Given the description of an element on the screen output the (x, y) to click on. 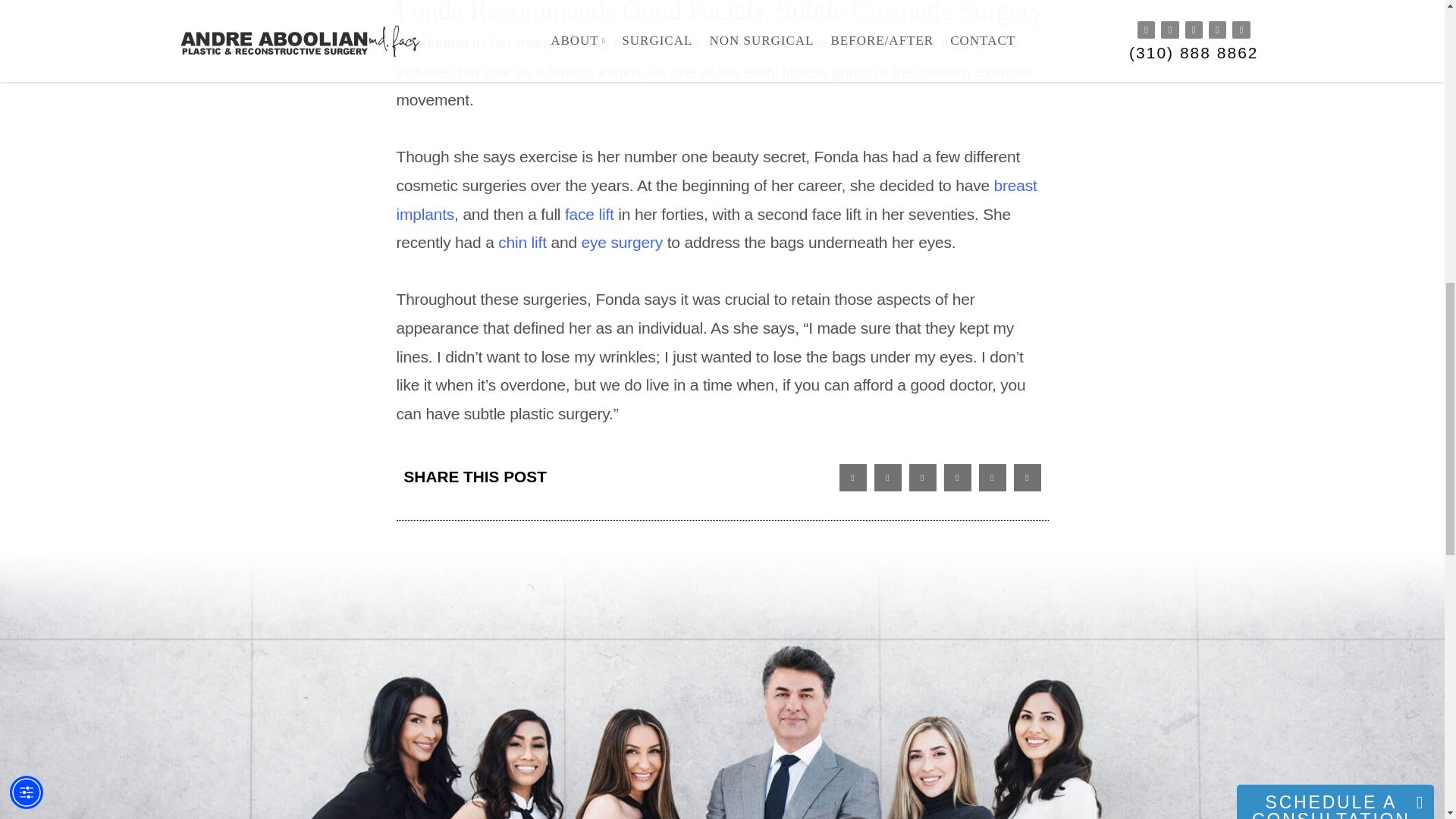
chin lift (522, 241)
face lift (589, 213)
breast implants (716, 199)
eye surgery (621, 241)
